Given the description of an element on the screen output the (x, y) to click on. 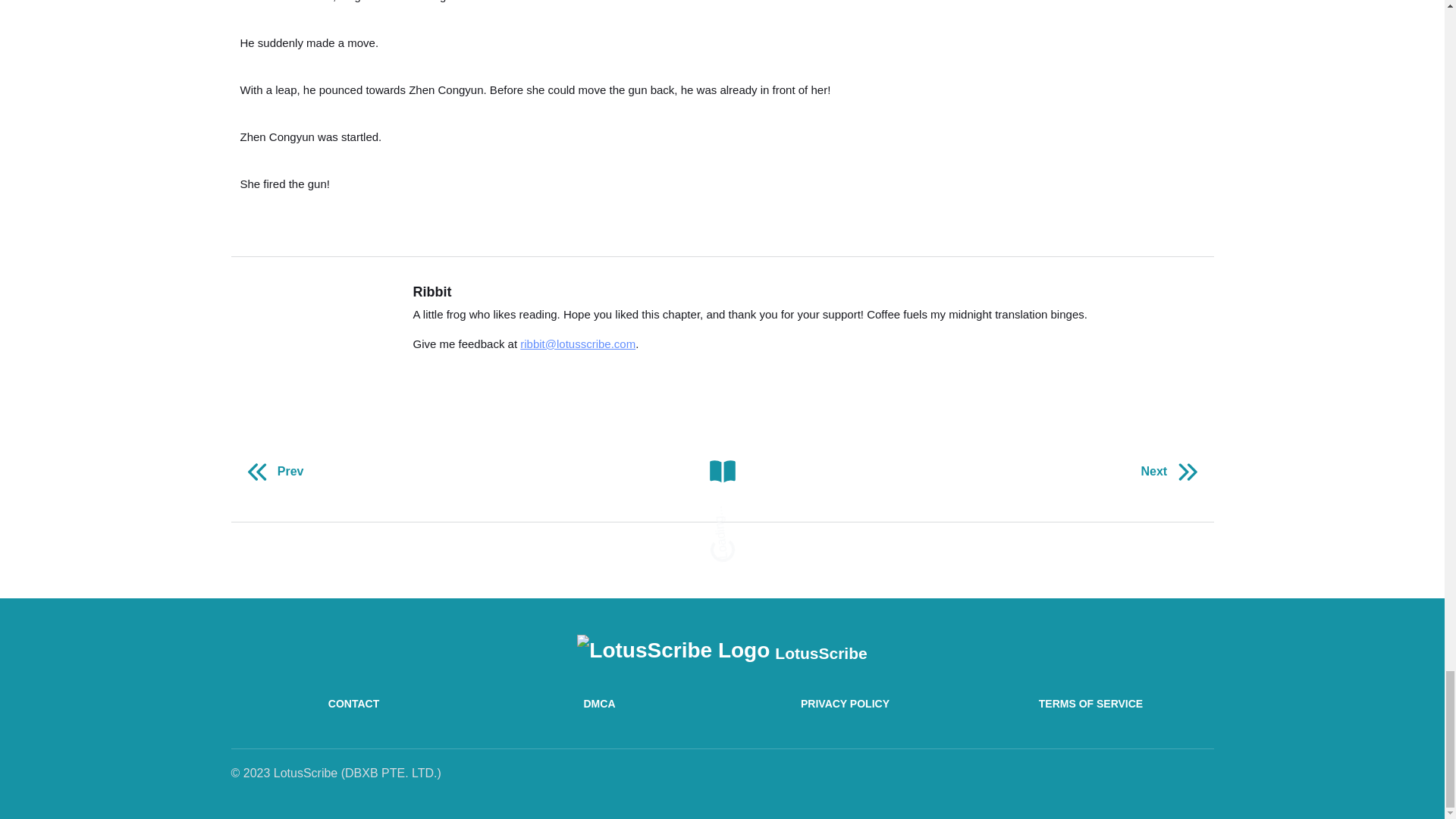
 Prev (271, 471)
LotusScribe (721, 651)
DMCA (598, 704)
TERMS OF SERVICE (1090, 704)
TERMS OF SERVICE (1090, 704)
PRIVACY POLICY (844, 704)
PRIVACY POLICY (844, 704)
CONTACT (353, 704)
Next  (1171, 471)
DMCA (598, 704)
